Given the description of an element on the screen output the (x, y) to click on. 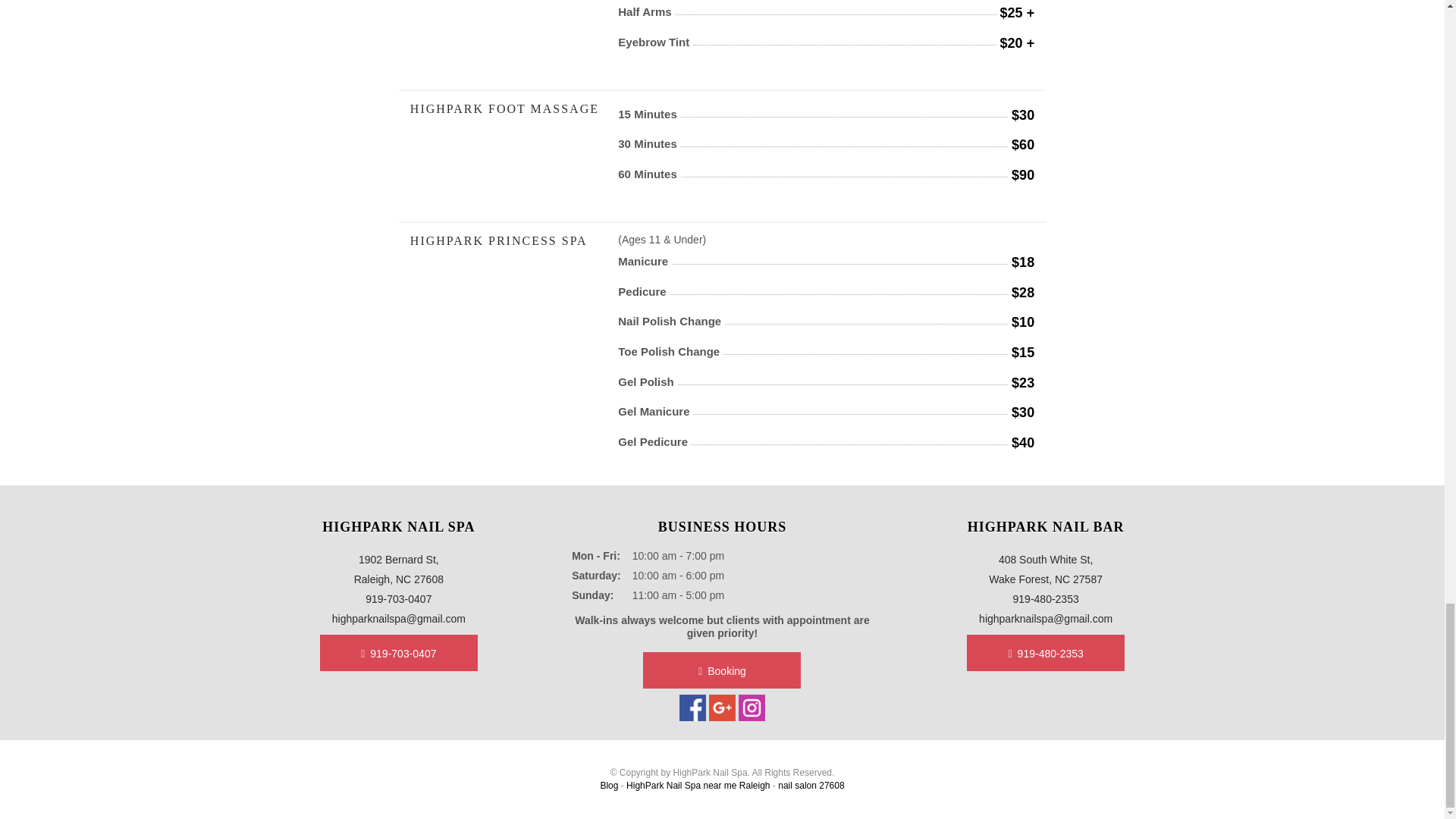
book (722, 670)
919-703-0407 (398, 652)
nail salon 27608 (810, 785)
Booking (722, 670)
Facebook (694, 707)
Blog (608, 785)
HighPark Nail Spa near me Raleigh (698, 785)
919-480-2353 (1045, 652)
